Given the description of an element on the screen output the (x, y) to click on. 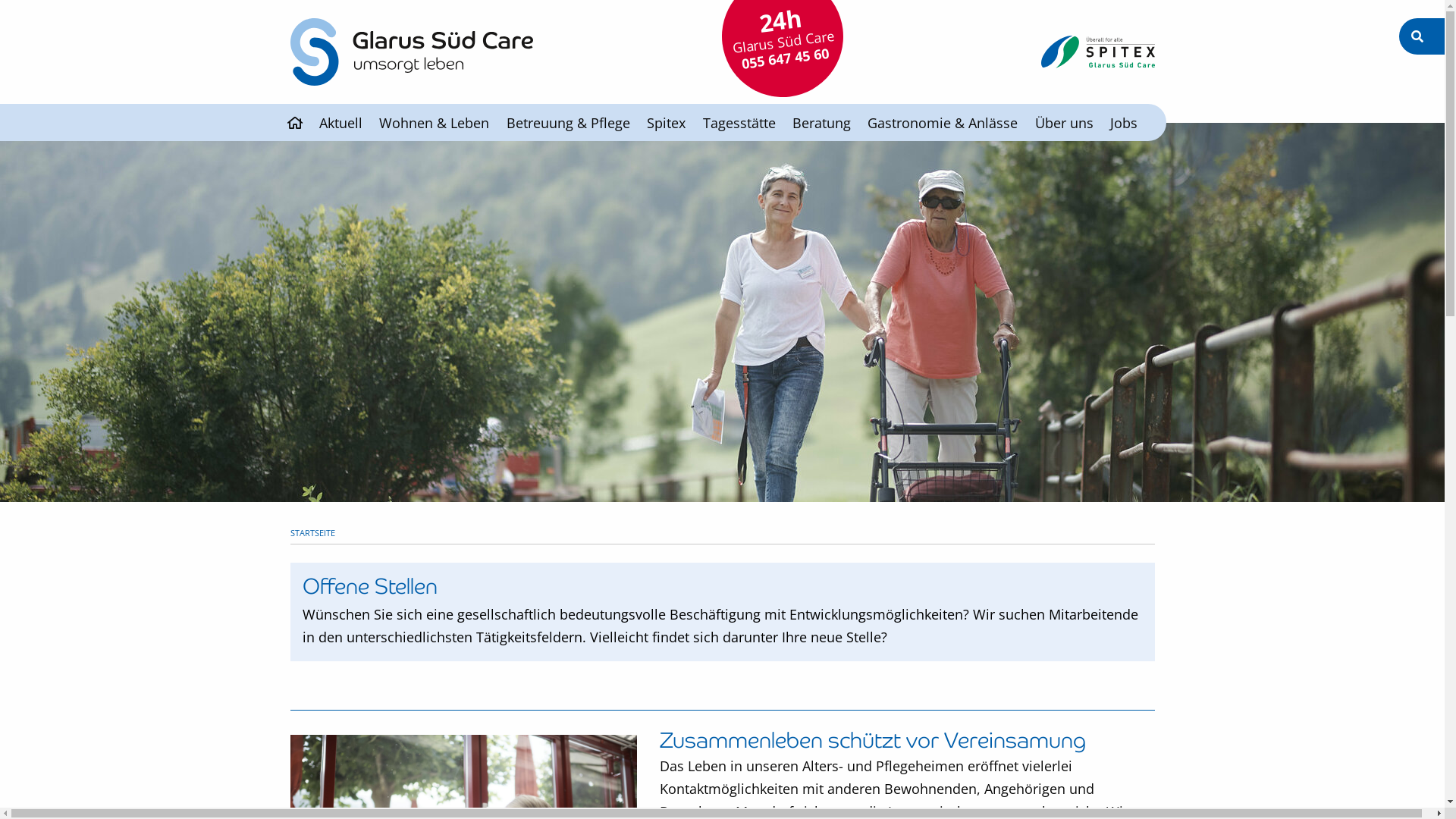
Spitex Element type: text (665, 122)
STARTSEITE Element type: text (311, 532)
Beratung Element type: text (821, 122)
Aktuell Element type: text (340, 122)
Betreuung & Pflege Element type: text (568, 122)
Jobs Element type: text (1123, 122)
Wohnen & Leben Element type: text (433, 122)
